Given the description of an element on the screen output the (x, y) to click on. 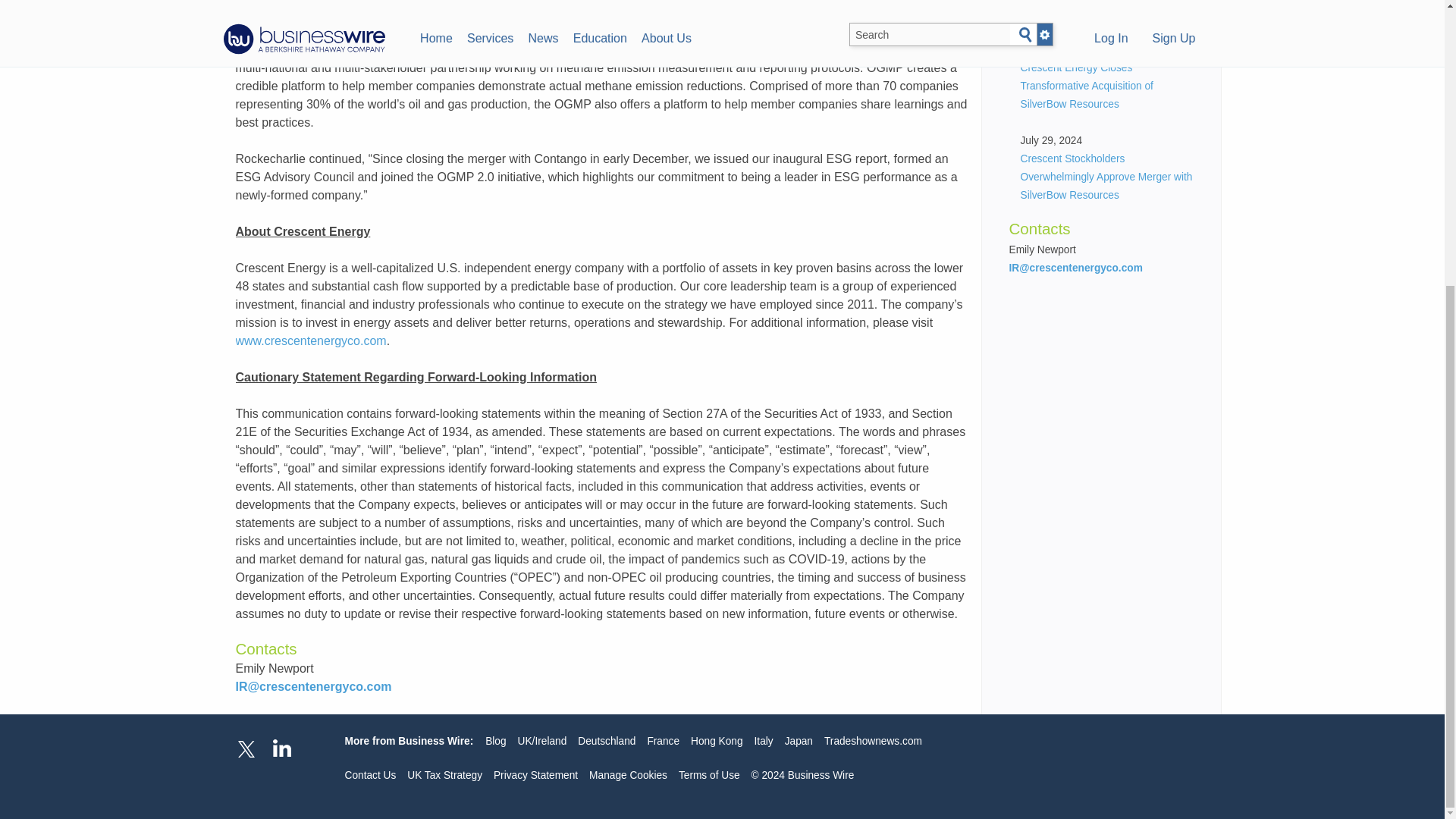
Crescent Energy Reports Second Quarter 2024 Results (1097, 9)
www.crescentenergyco.com (309, 340)
